Given the description of an element on the screen output the (x, y) to click on. 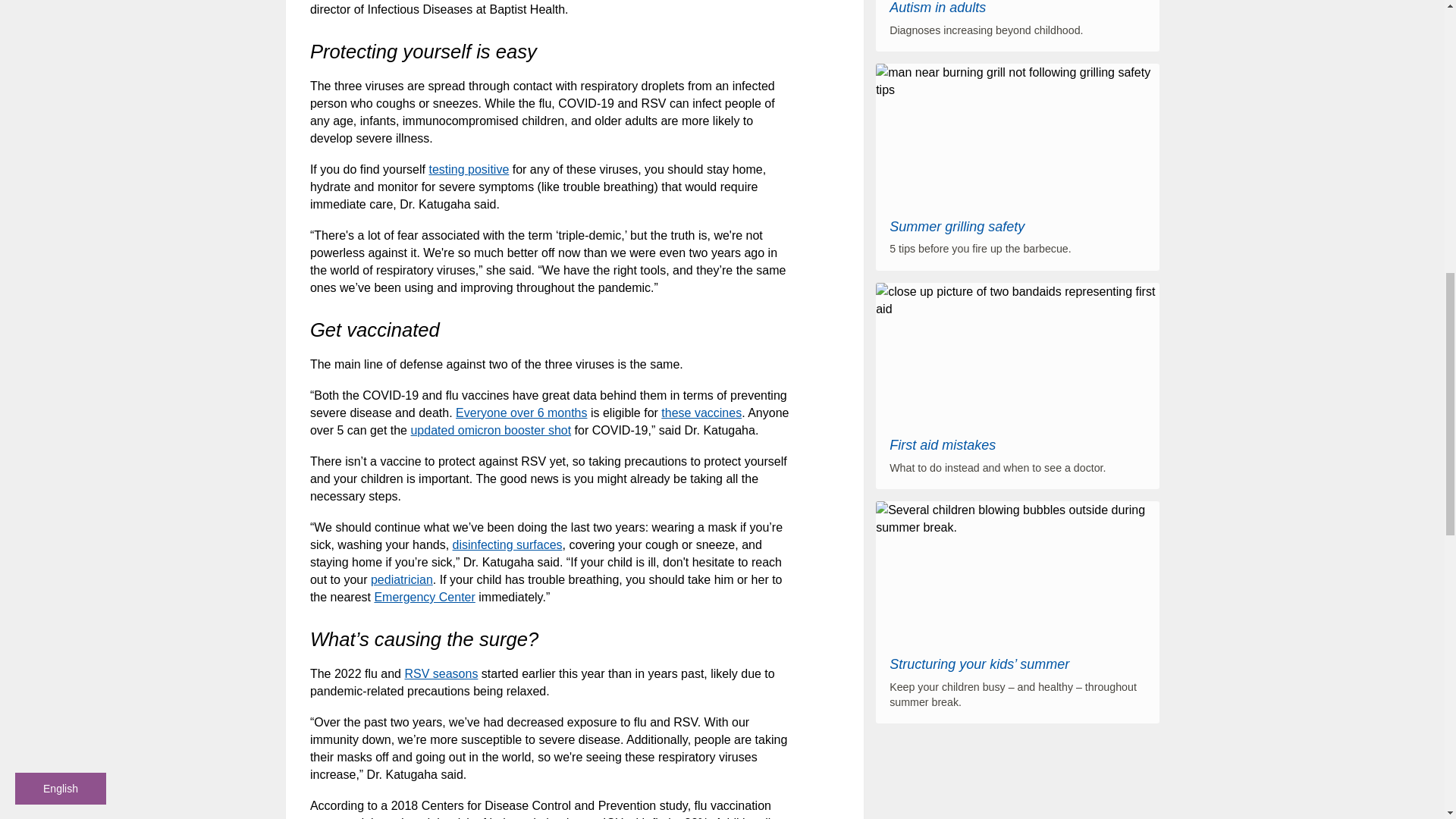
updated omicron booster shot (490, 430)
these vaccines (701, 412)
Summer grilling safety (957, 226)
RSV seasons (440, 673)
Emergency Center (424, 596)
pediatrician (401, 579)
testing positive (468, 169)
Autism in adults (937, 7)
disinfecting surfaces (507, 544)
Everyone over 6 months (520, 412)
First aid mistakes (942, 444)
